Given the description of an element on the screen output the (x, y) to click on. 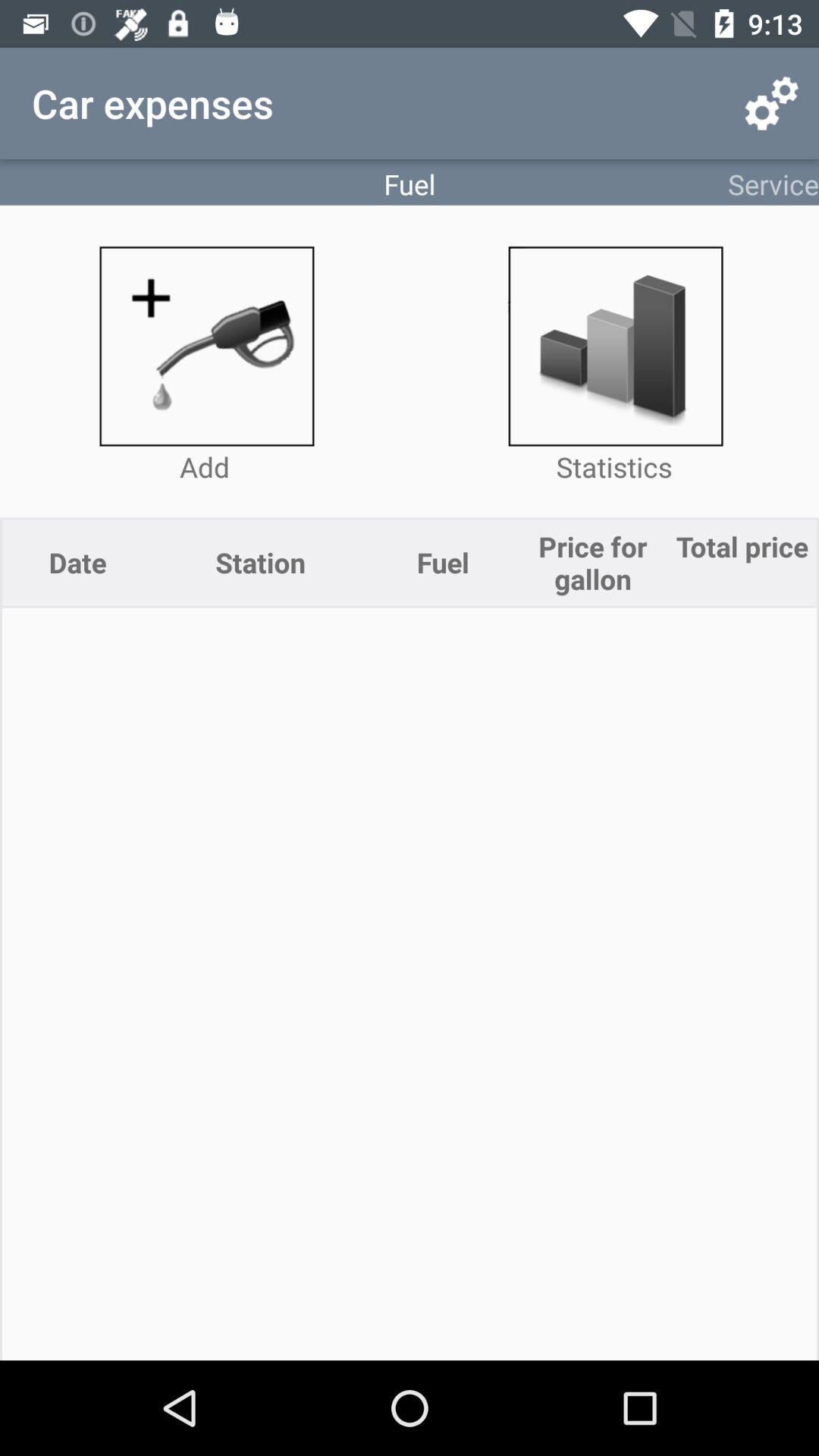
launch item to the right of the fuel item (771, 103)
